Given the description of an element on the screen output the (x, y) to click on. 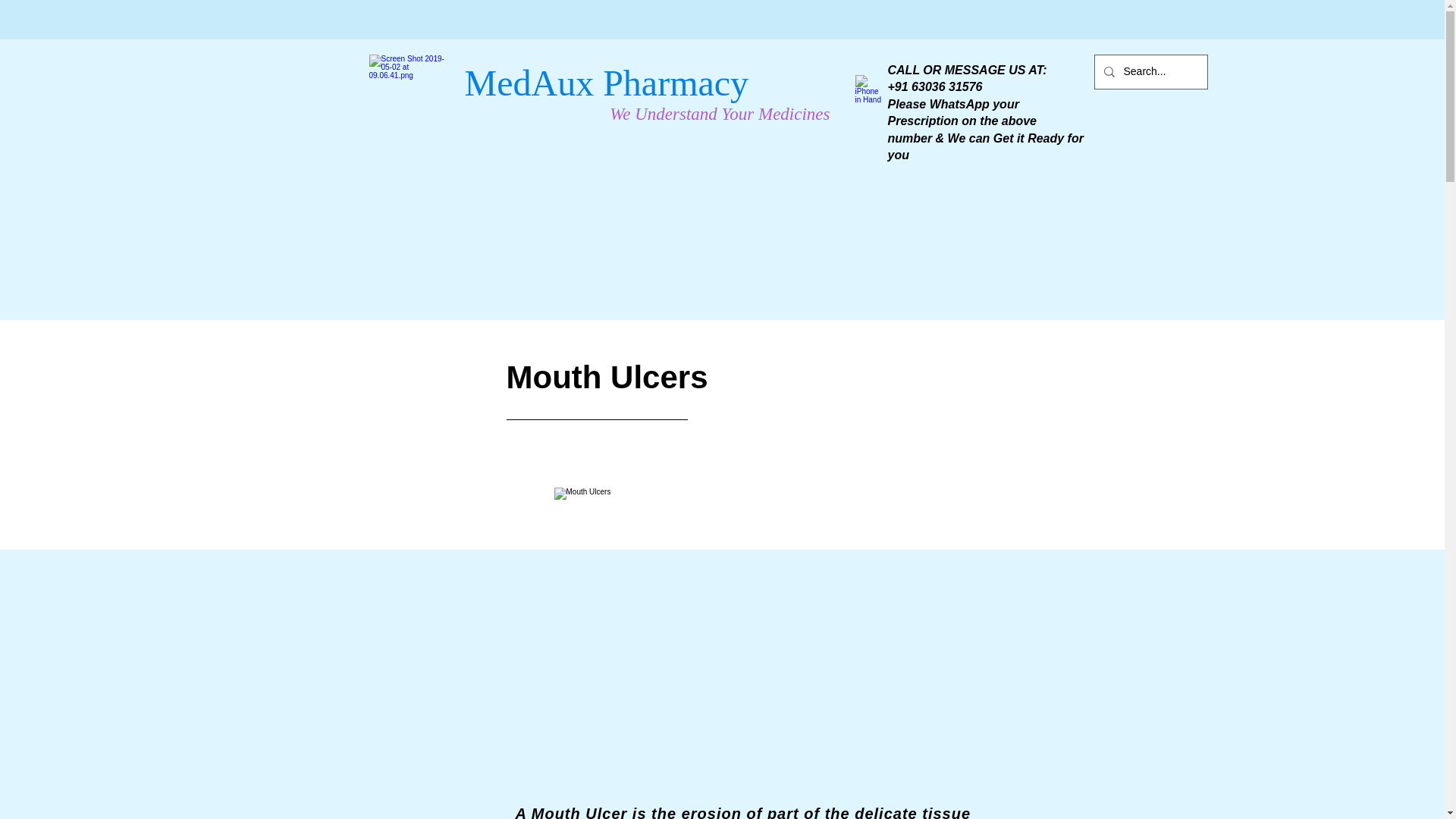
MedAux Pharmacy (606, 83)
Mouth Ulcers (762, 617)
We Understand Your Medicines (719, 113)
